Given the description of an element on the screen output the (x, y) to click on. 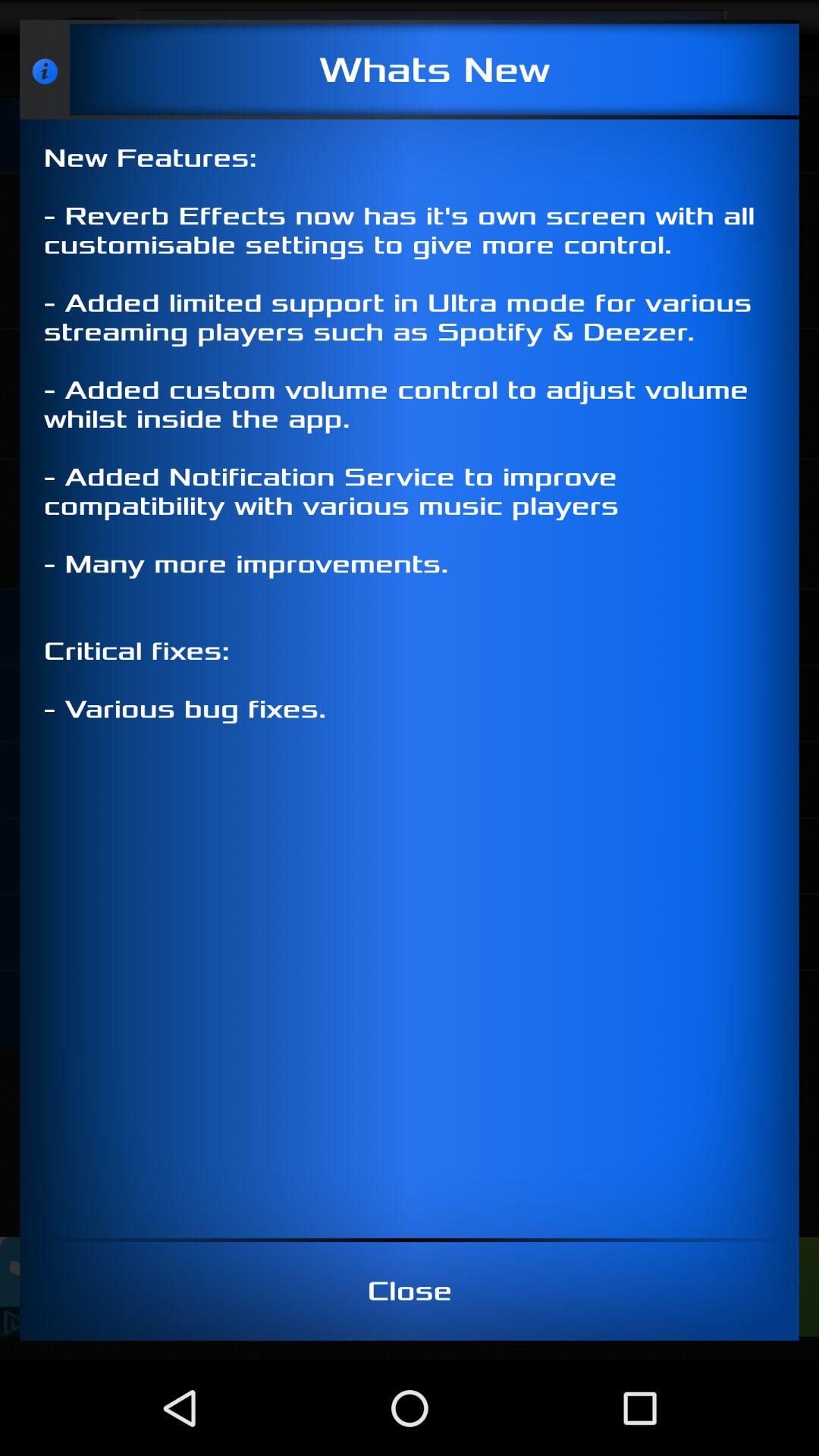
jump to close (409, 1291)
